Given the description of an element on the screen output the (x, y) to click on. 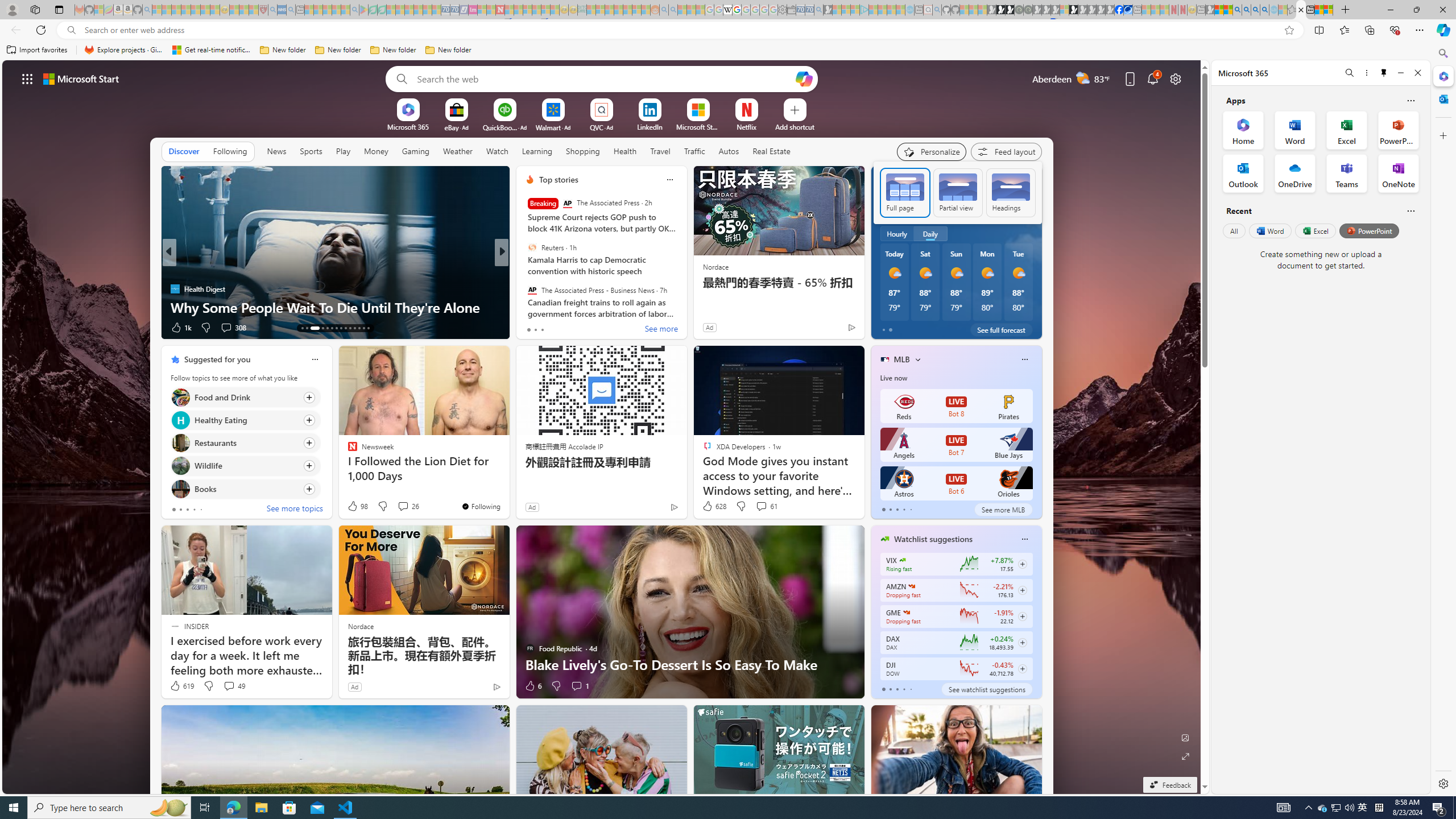
View comments 67 Comment (576, 327)
Watch (497, 151)
AutomationID: tab-21 (345, 328)
See watchlist suggestions (986, 689)
AutomationID: tab-23 (354, 328)
Click to follow topic Books (245, 488)
CNBC (524, 270)
Play (342, 151)
Hourly (896, 233)
